Given the description of an element on the screen output the (x, y) to click on. 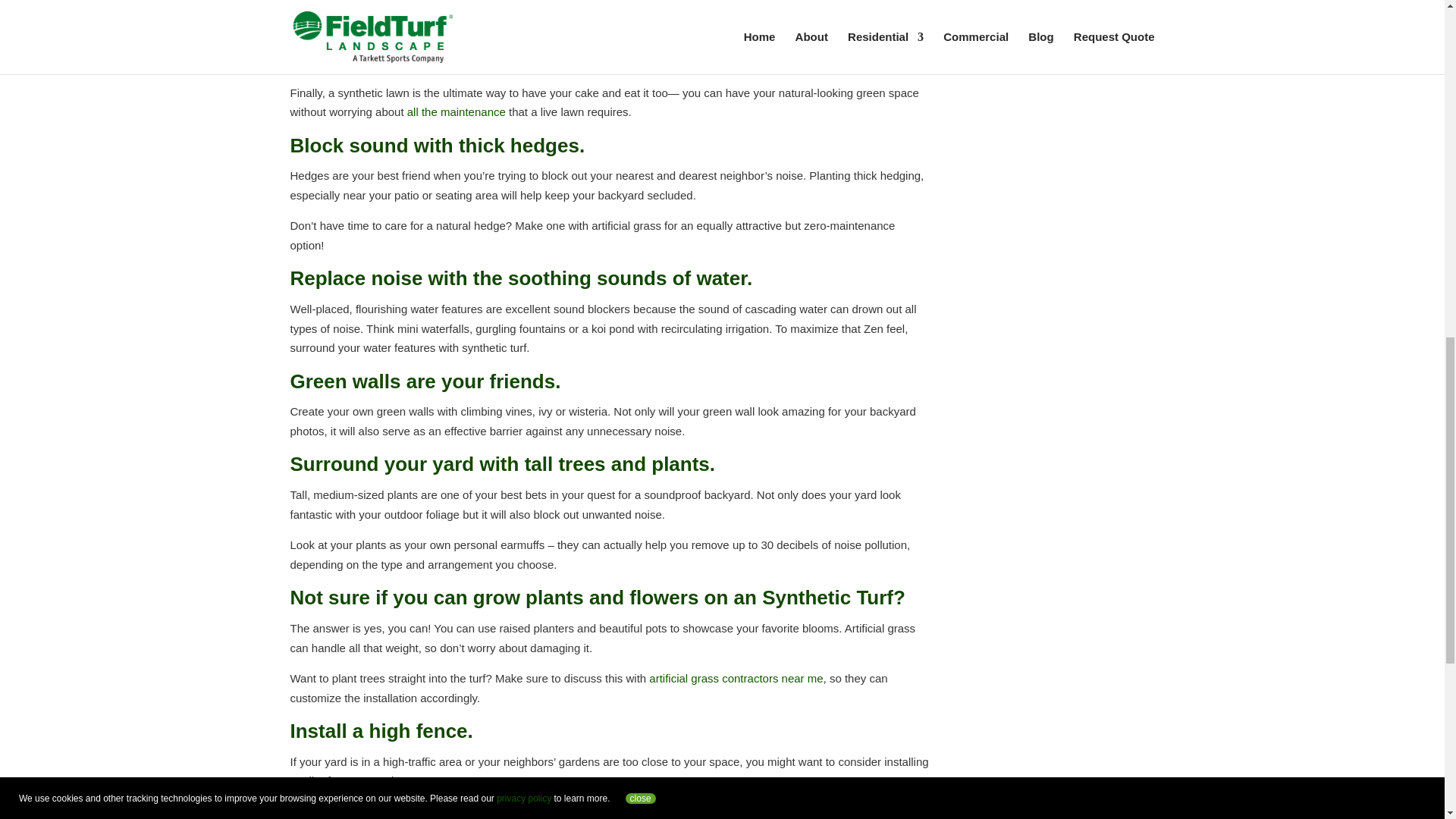
artificial grass contractors near me (735, 677)
all the maintenance (456, 111)
